Given the description of an element on the screen output the (x, y) to click on. 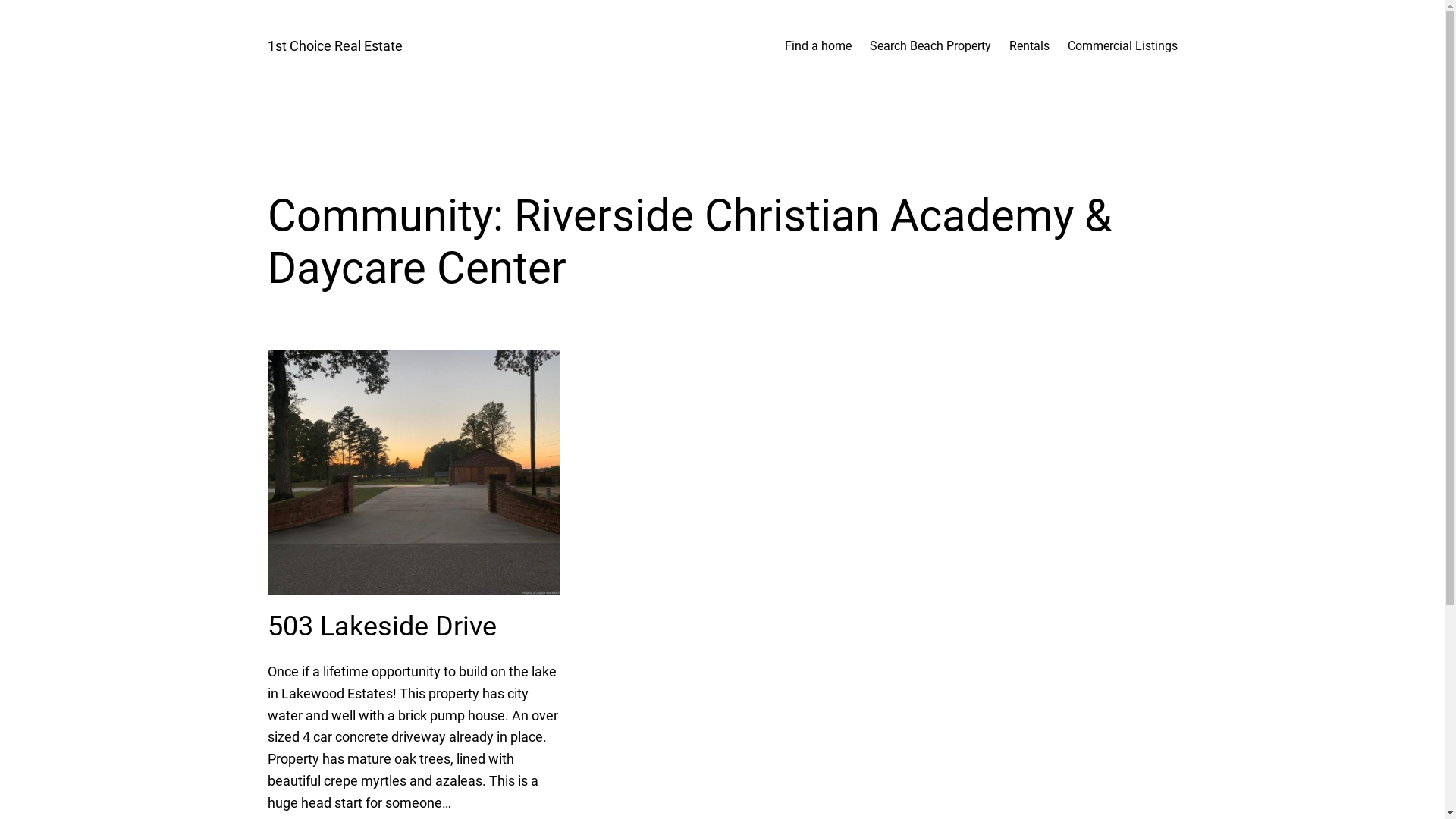
Find a home Element type: text (817, 46)
1st Choice Real Estate Element type: text (333, 45)
503 Lakeside Drive Element type: text (380, 626)
Rentals Element type: text (1028, 46)
Search Beach Property Element type: text (929, 46)
Commercial Listings Element type: text (1122, 46)
